Given the description of an element on the screen output the (x, y) to click on. 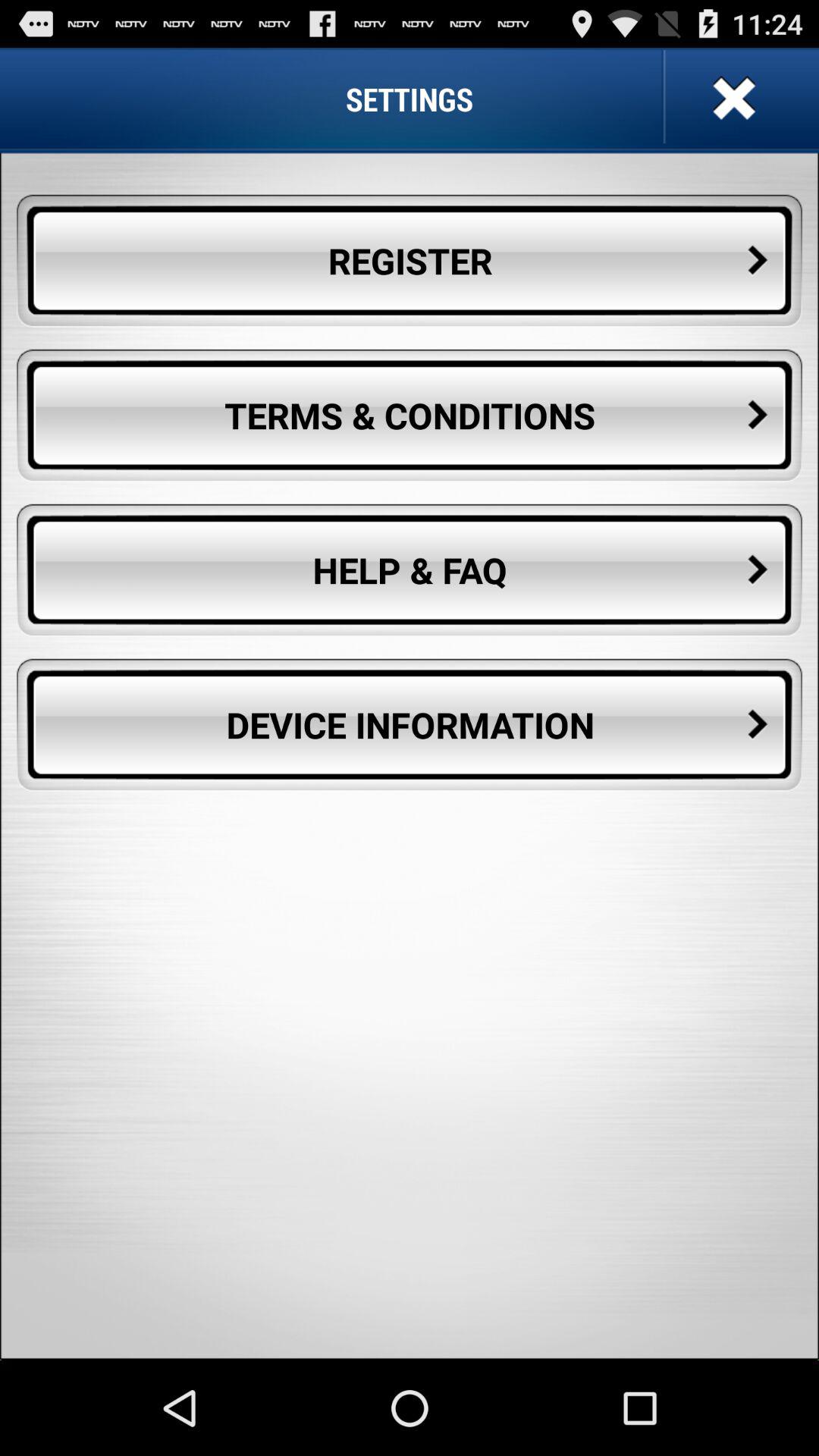
swipe until register (409, 260)
